Given the description of an element on the screen output the (x, y) to click on. 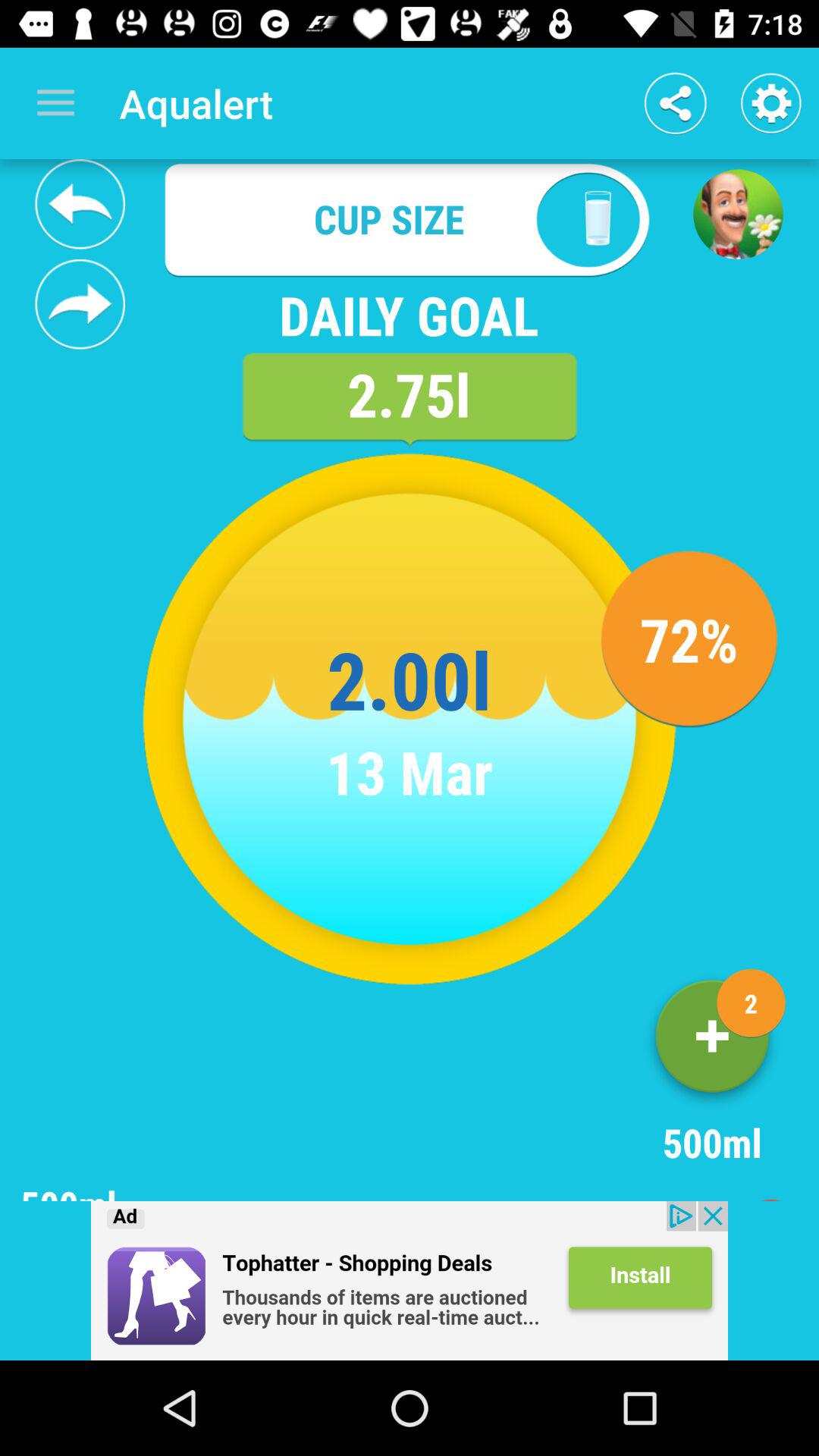
click on share button which is next to aqualert  at the top of the page (675, 103)
click on the number 72 on the web page (688, 639)
click on cup size field which is above daily goal (409, 218)
click the backward button on the web page (80, 203)
